Given the description of an element on the screen output the (x, y) to click on. 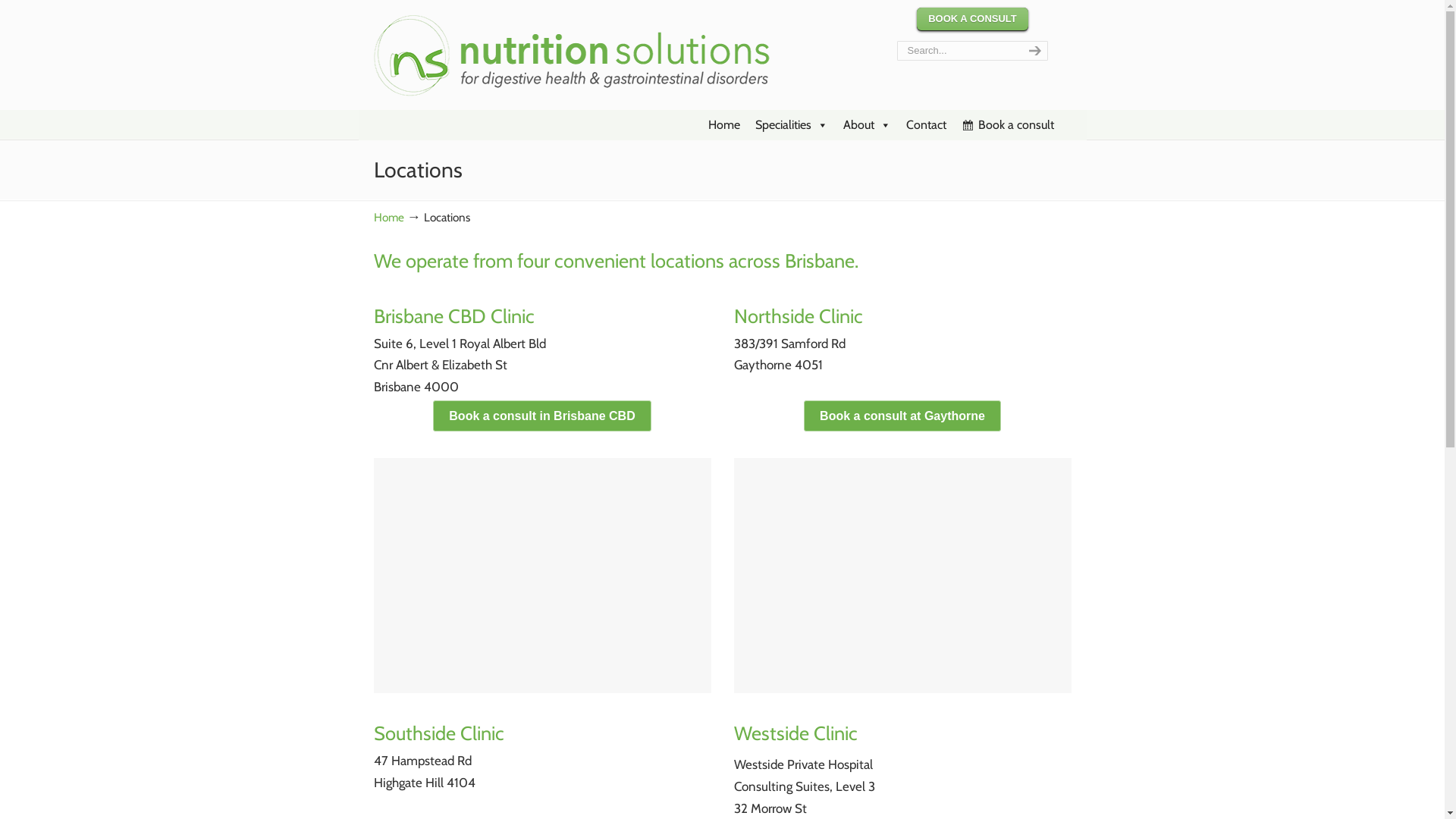
Home Element type: text (723, 124)
Book a consult in Brisbane CBD Element type: text (541, 415)
Contact Element type: text (925, 124)
Nutrition Solutions Element type: text (579, 52)
Home Element type: text (388, 217)
BOOK A CONSULT Element type: text (972, 19)
search Element type: text (1032, 50)
Specialities Element type: text (791, 124)
About Element type: text (866, 124)
Book a consult Element type: text (1007, 124)
Book a consult at Gaythorne Element type: text (902, 415)
